Given the description of an element on the screen output the (x, y) to click on. 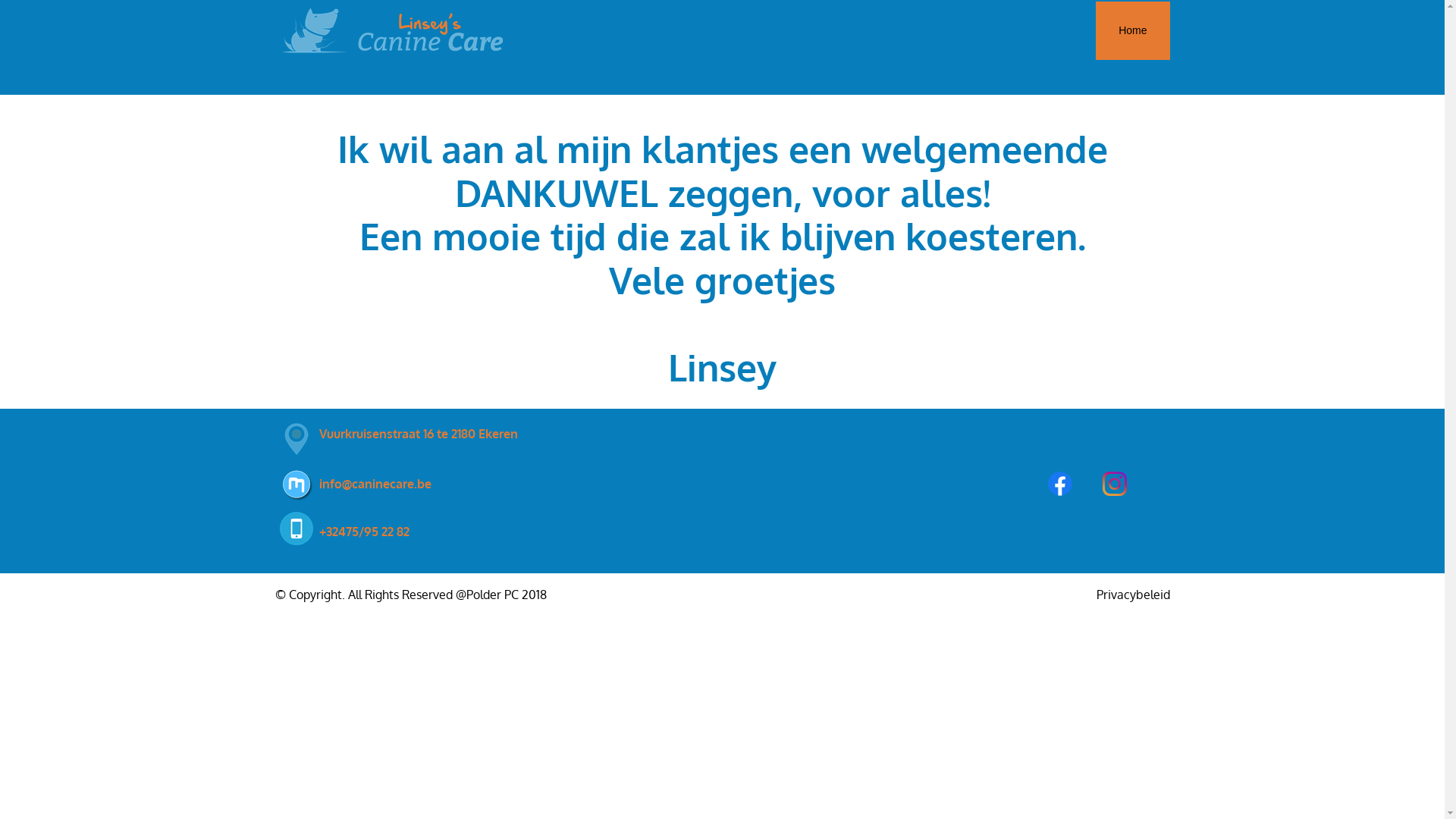
Home Element type: text (1132, 30)
Privacybeleid Element type: text (1133, 594)
